Given the description of an element on the screen output the (x, y) to click on. 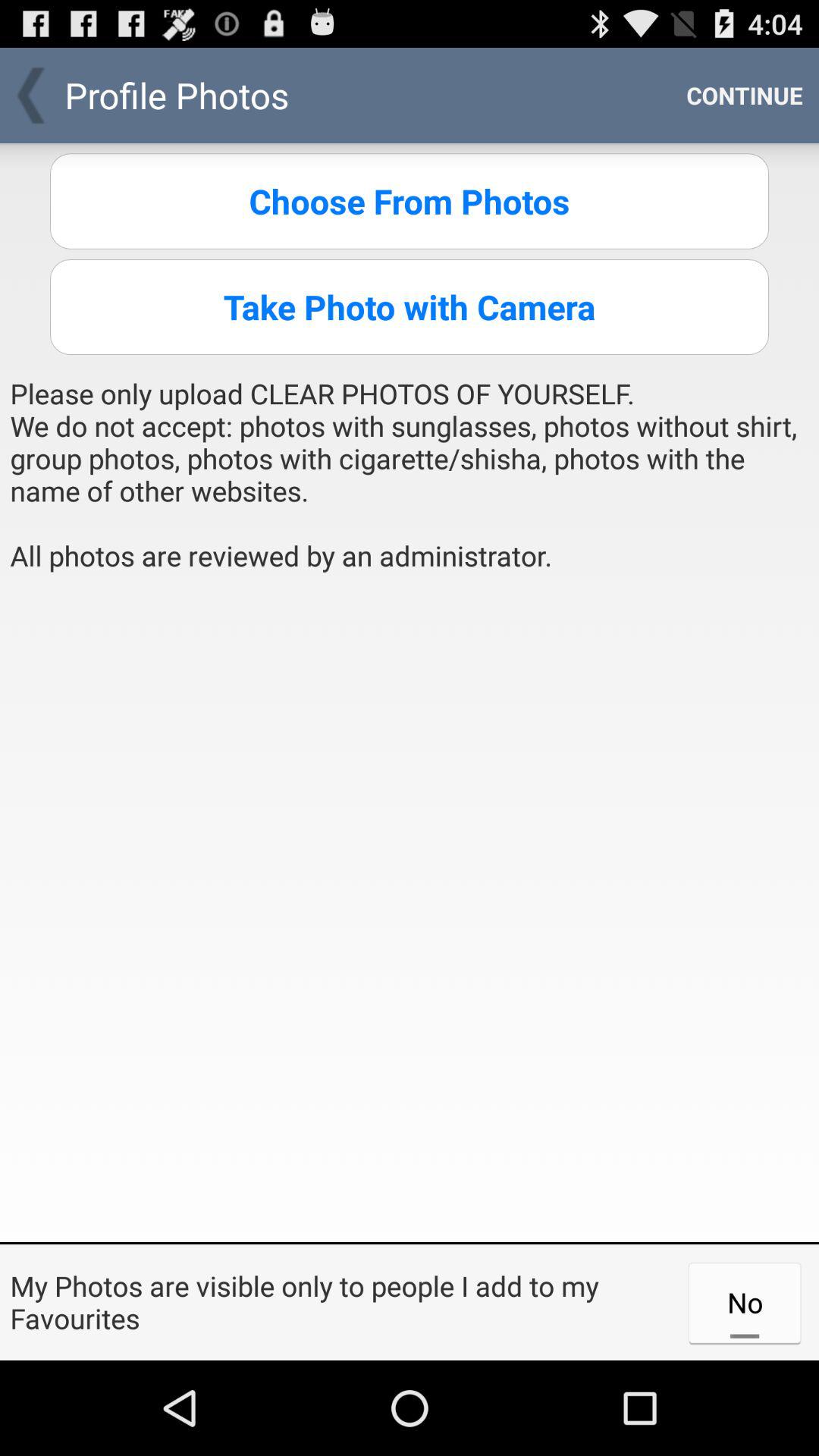
tap the button above choose from photos item (744, 95)
